Given the description of an element on the screen output the (x, y) to click on. 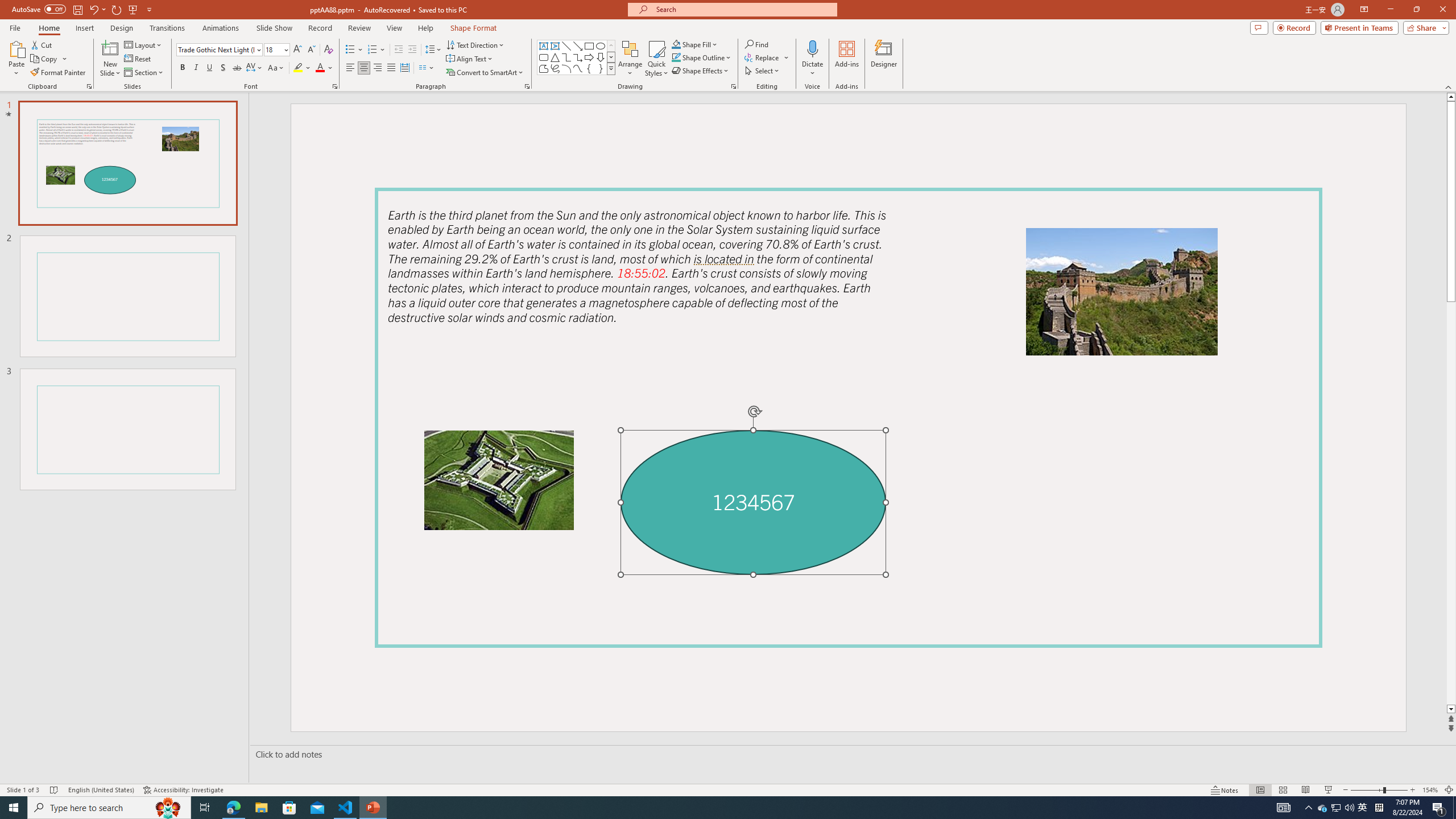
Zoom 154% (1430, 790)
